Given the description of an element on the screen output the (x, y) to click on. 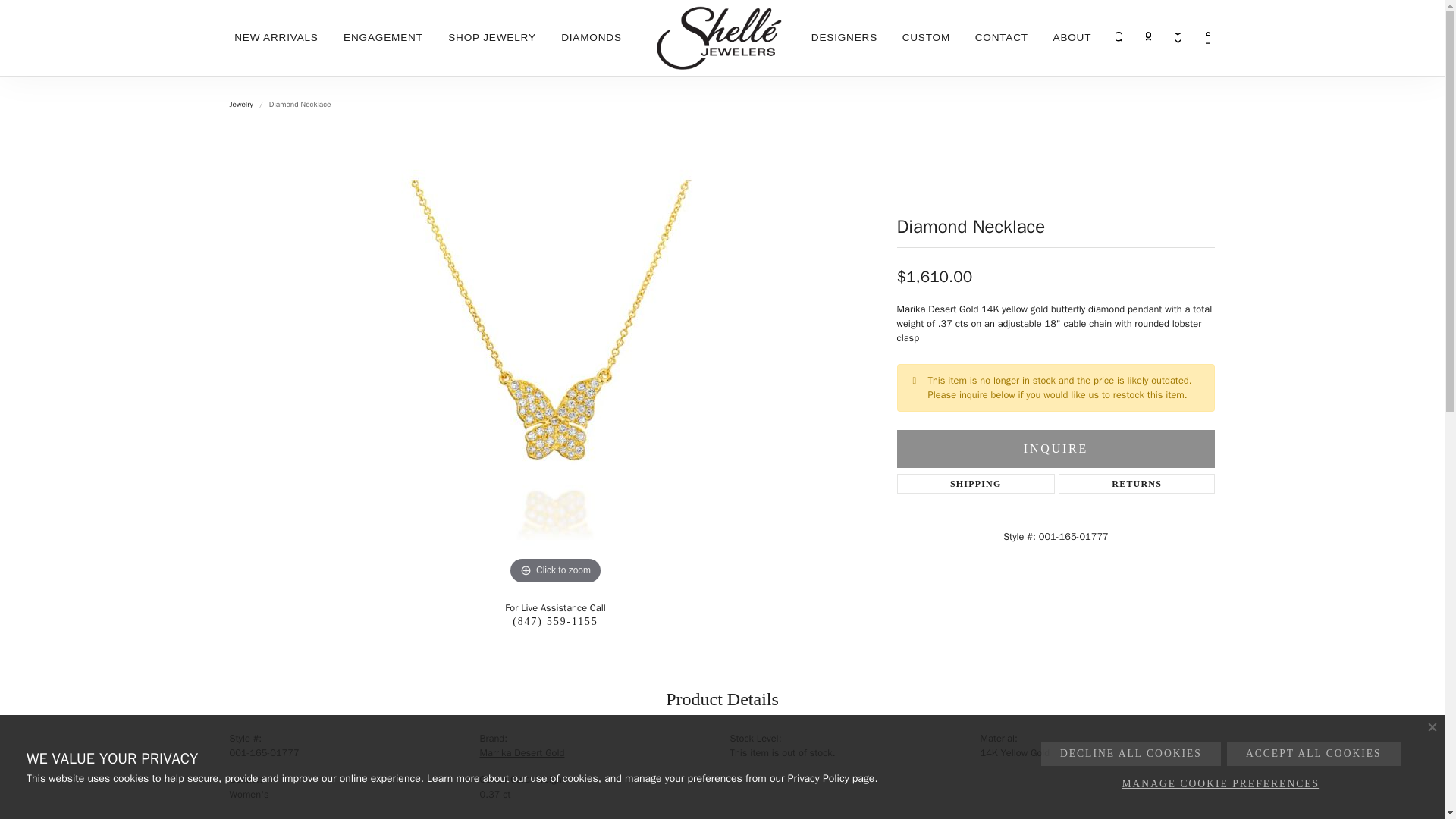
Skip to main content (7, 3)
NEW ARRIVALS (276, 38)
ENGAGEMENT (383, 38)
SHOP JEWELRY (491, 38)
